Given the description of an element on the screen output the (x, y) to click on. 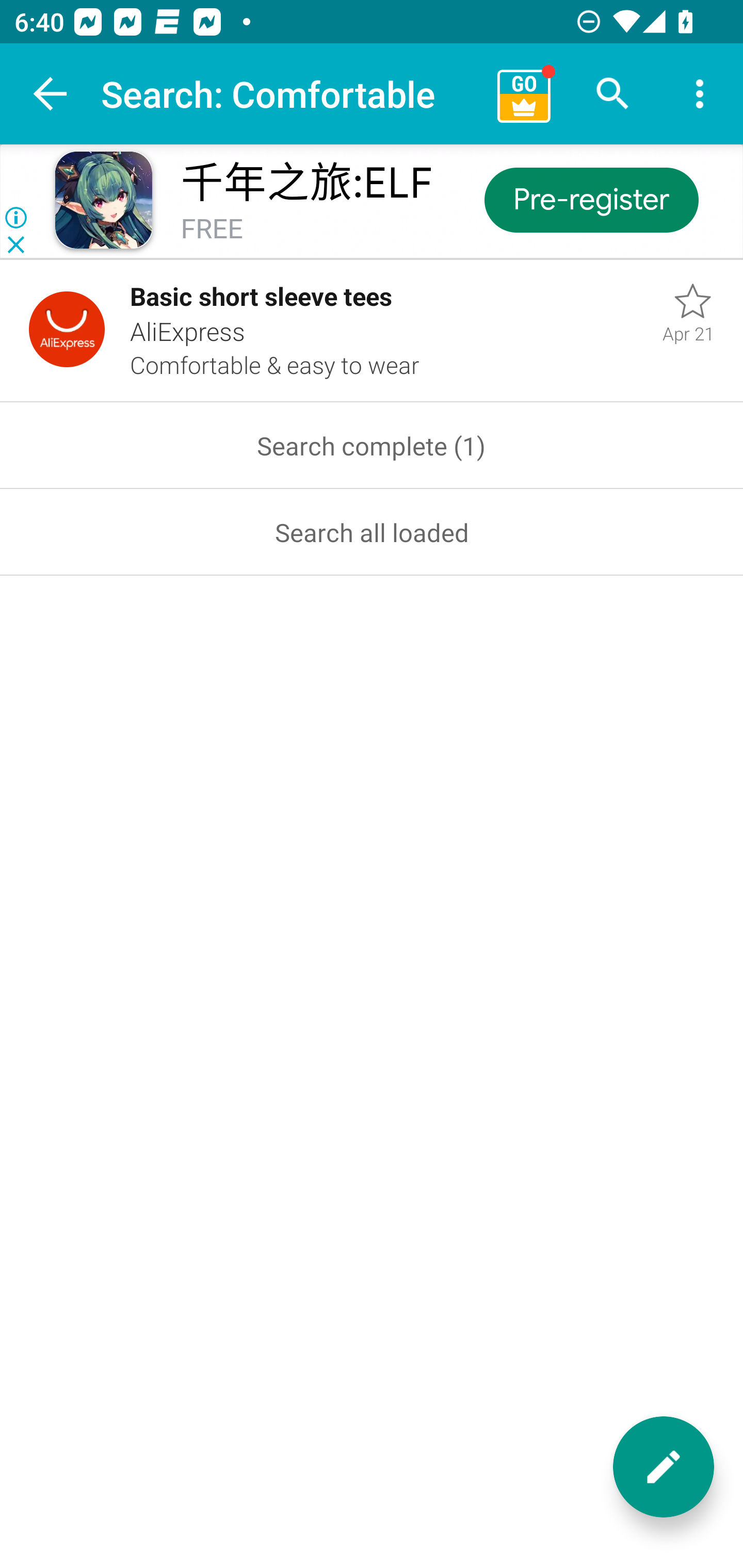
Navigate up (50, 93)
Search (612, 93)
More options (699, 93)
千年之旅:ELF (306, 183)
Pre-register (590, 199)
FREE (211, 230)
Search complete (1) (371, 445)
Search all loaded (371, 532)
New message (663, 1466)
